Given the description of an element on the screen output the (x, y) to click on. 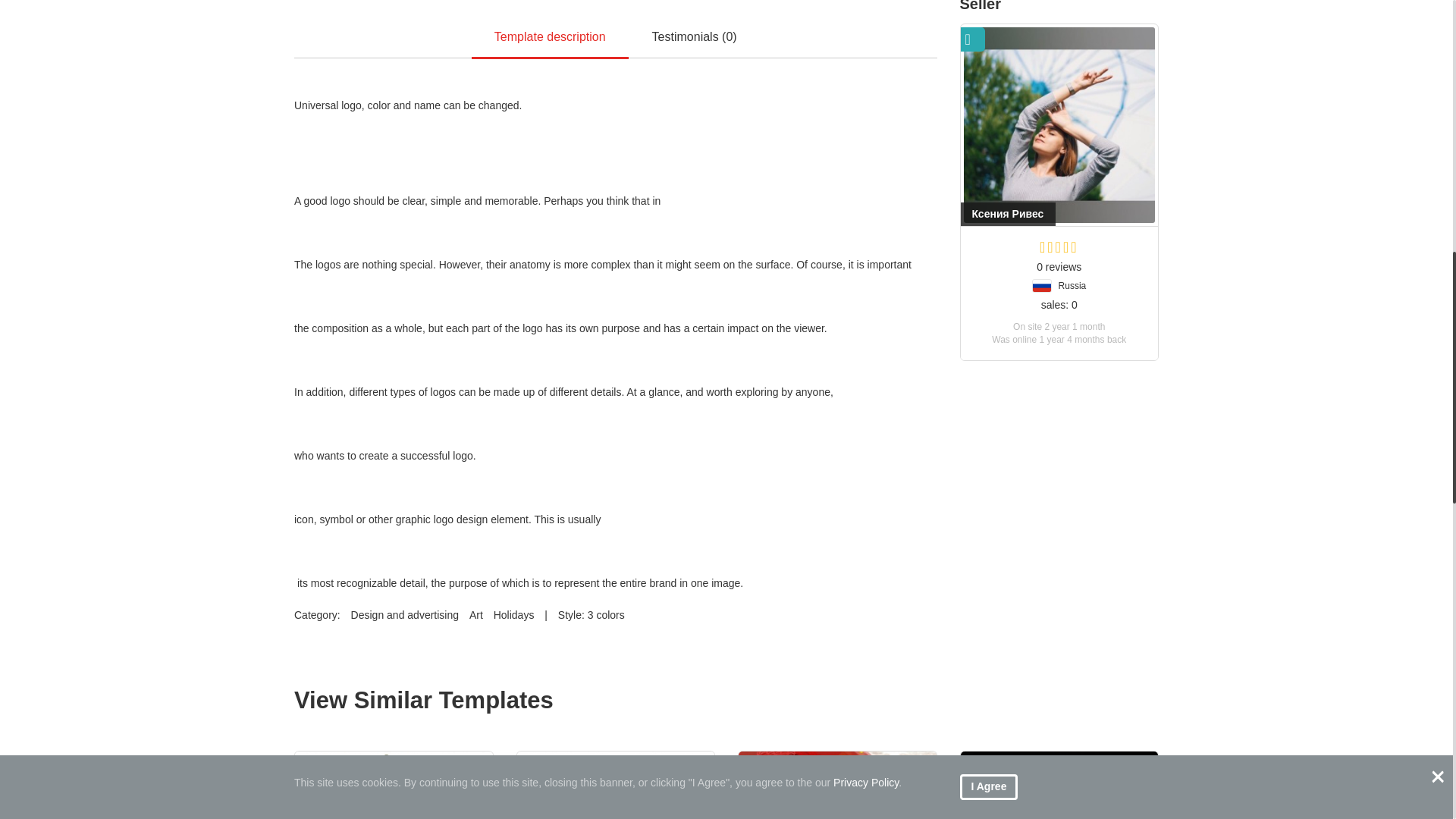
Advertising companies Illustration Template (615, 785)
design (1058, 785)
Logo universal (615, 18)
More about the seller (1058, 125)
Advertising companies Illustration Template (837, 785)
Advertising companies Illustration Template (394, 785)
